Given the description of an element on the screen output the (x, y) to click on. 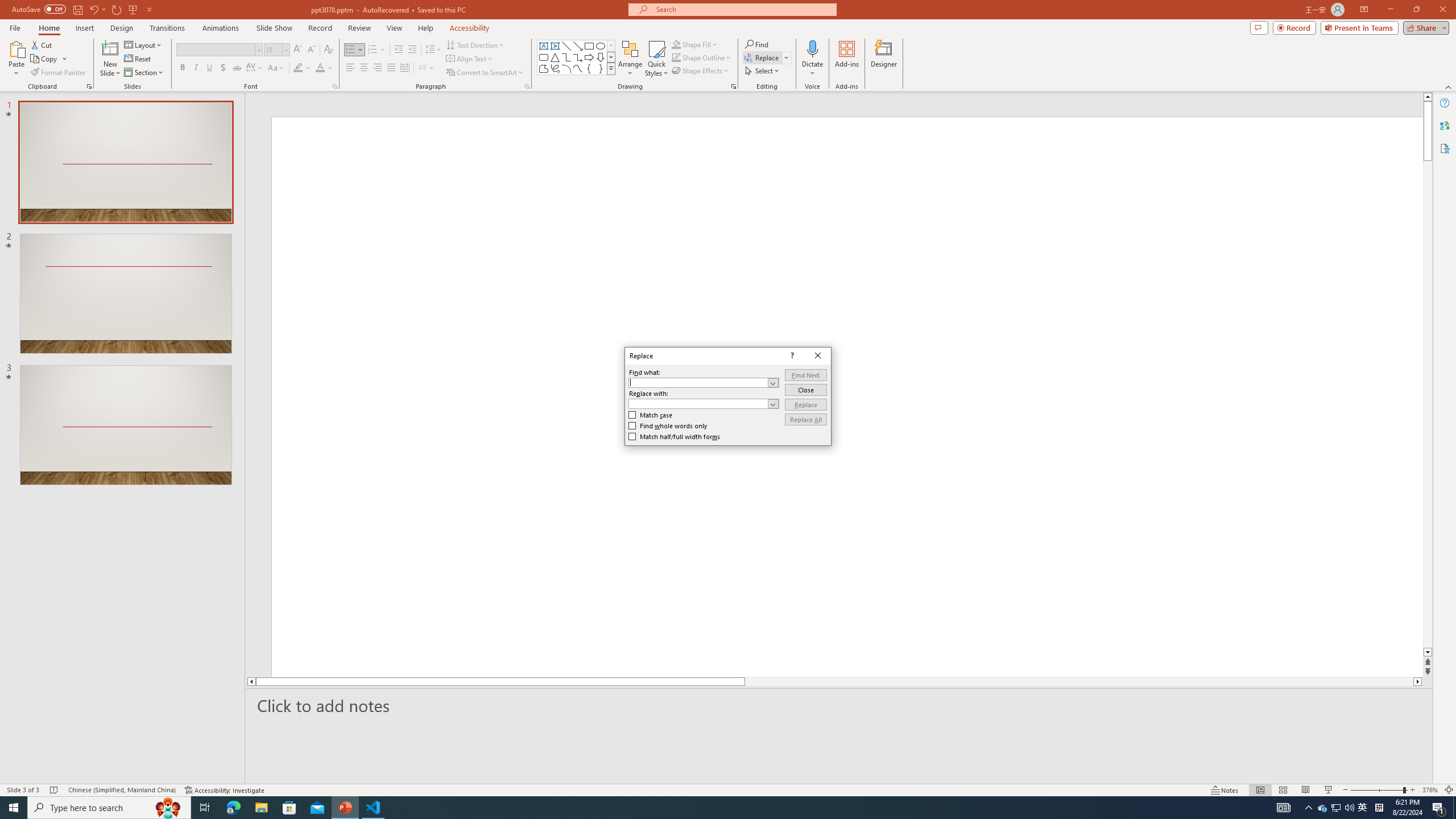
Find what (703, 382)
